Given the description of an element on the screen output the (x, y) to click on. 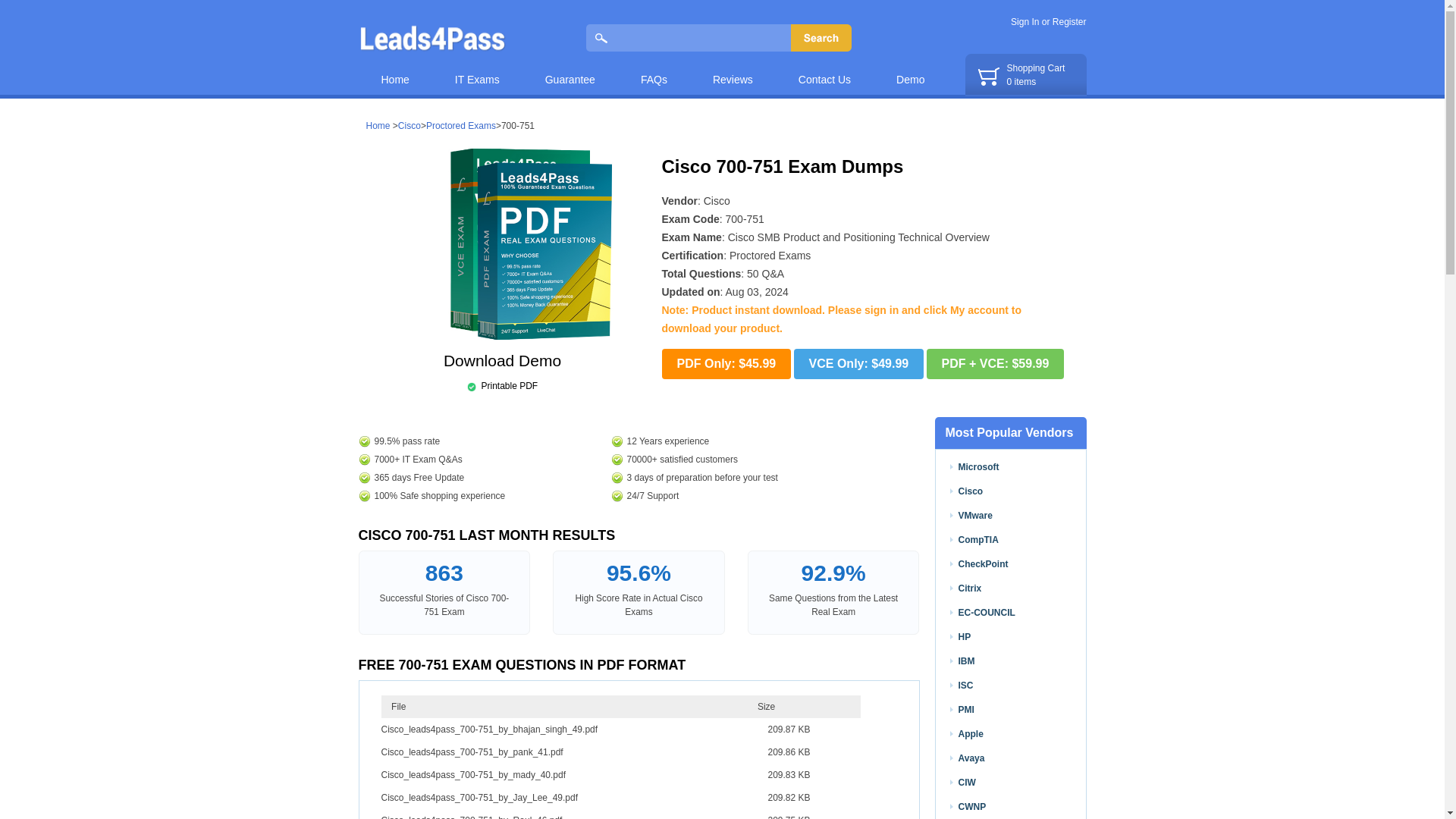
Reviews (733, 72)
Demo (910, 72)
Home (394, 72)
Download Demo (502, 360)
Demo (910, 72)
Home (394, 72)
FAQs (653, 72)
Cisco (716, 200)
Cisco (408, 125)
IT Exams (477, 72)
